Given the description of an element on the screen output the (x, y) to click on. 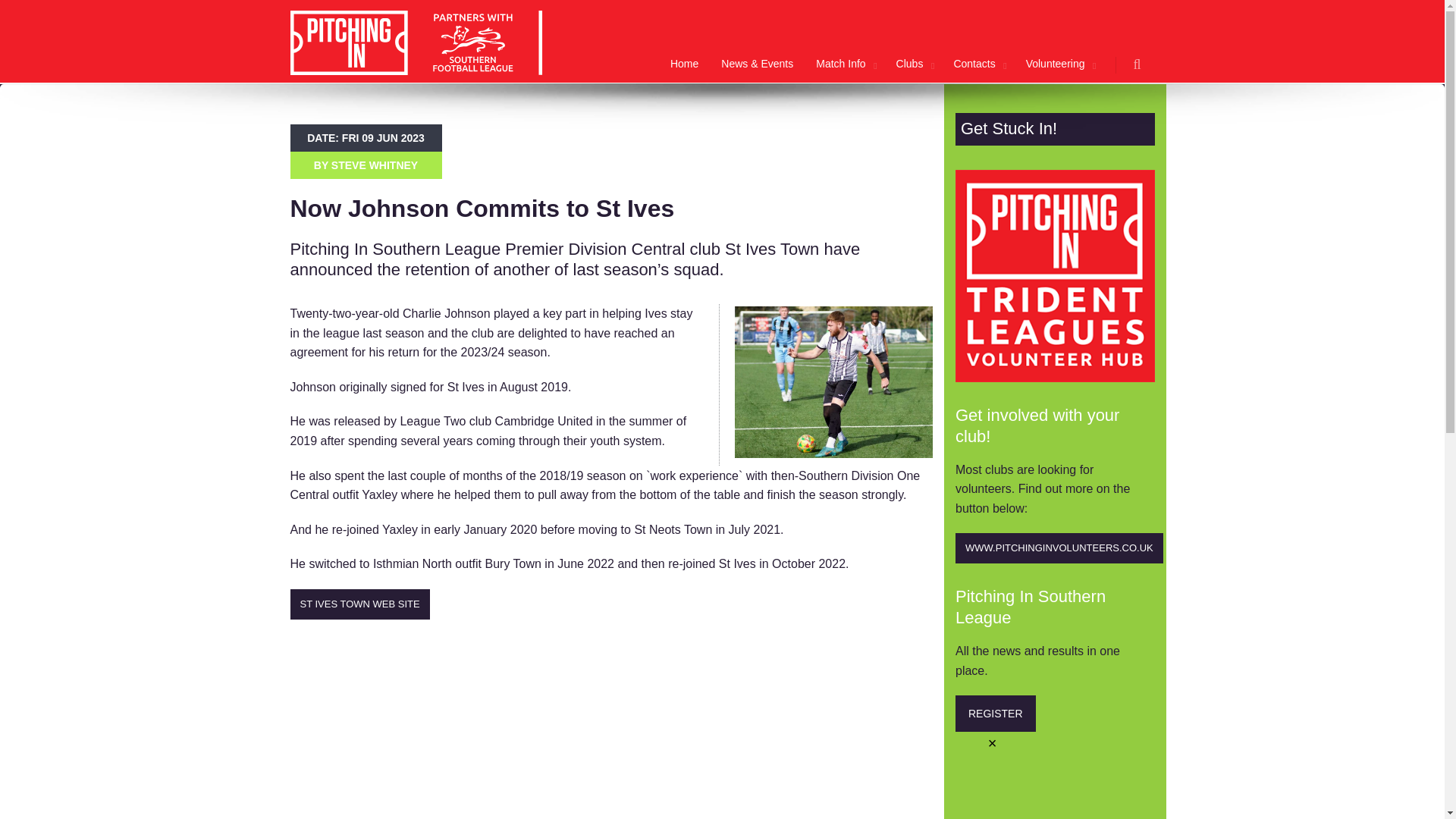
Match Info (844, 41)
Home (684, 41)
